Given the description of an element on the screen output the (x, y) to click on. 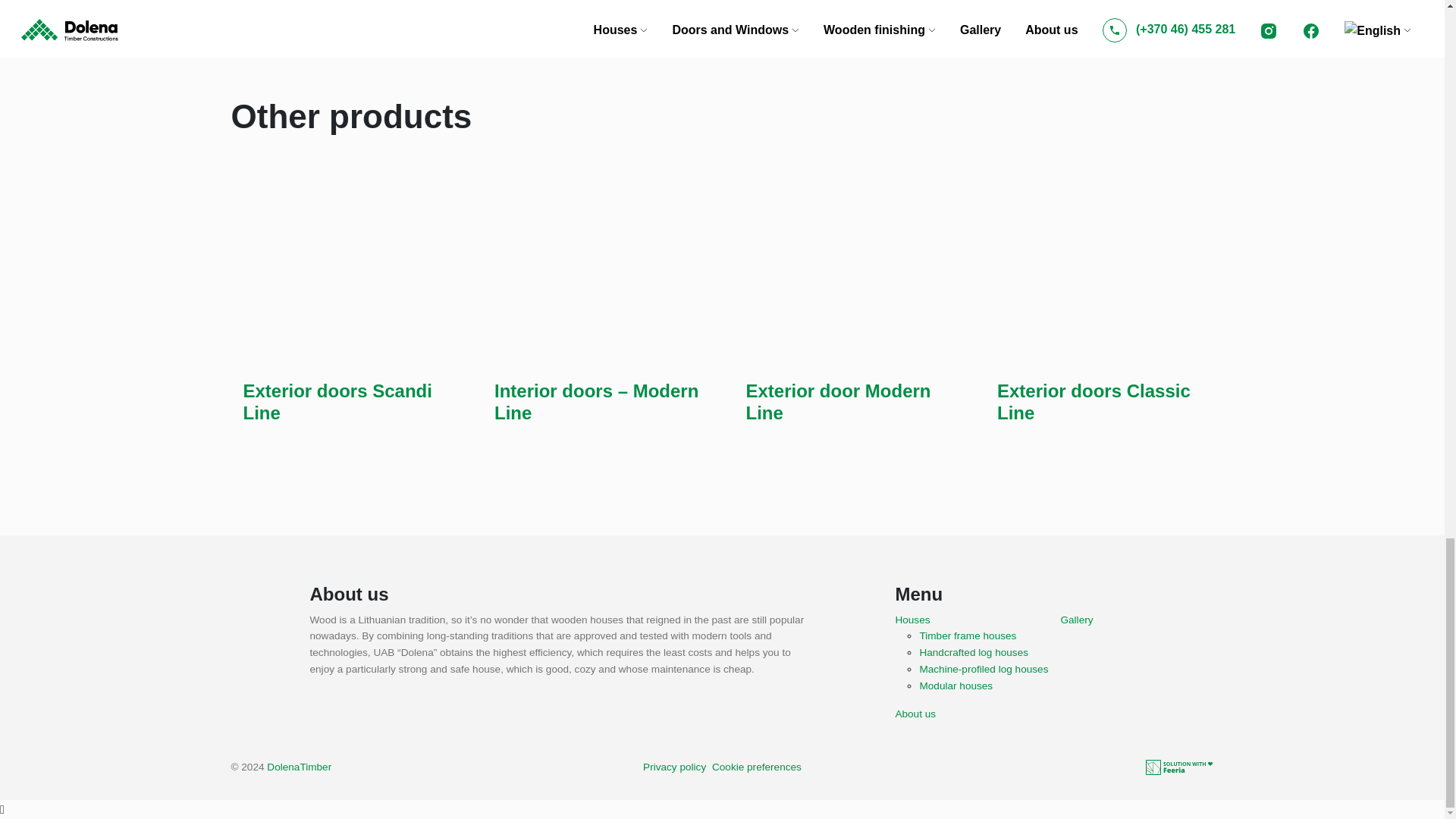
Send (258, 19)
Handcrafted log houses (972, 653)
Send (258, 19)
Machine-profiled log houses (983, 669)
Houses (912, 620)
Timber frame houses (967, 635)
